Given the description of an element on the screen output the (x, y) to click on. 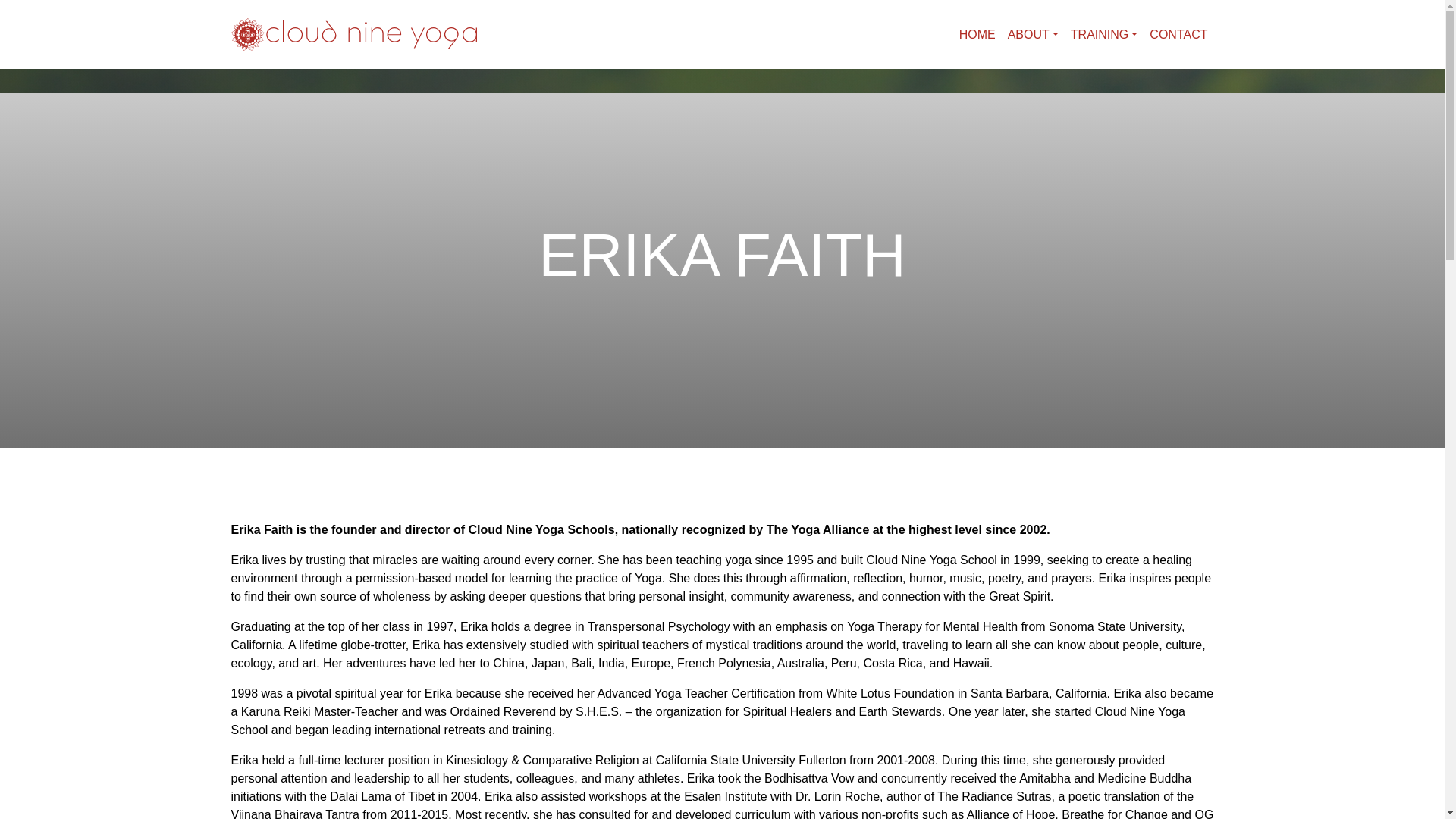
CONTACT (1177, 34)
TRAINING (1104, 34)
HOME (977, 34)
ABOUT (1032, 34)
